Given the description of an element on the screen output the (x, y) to click on. 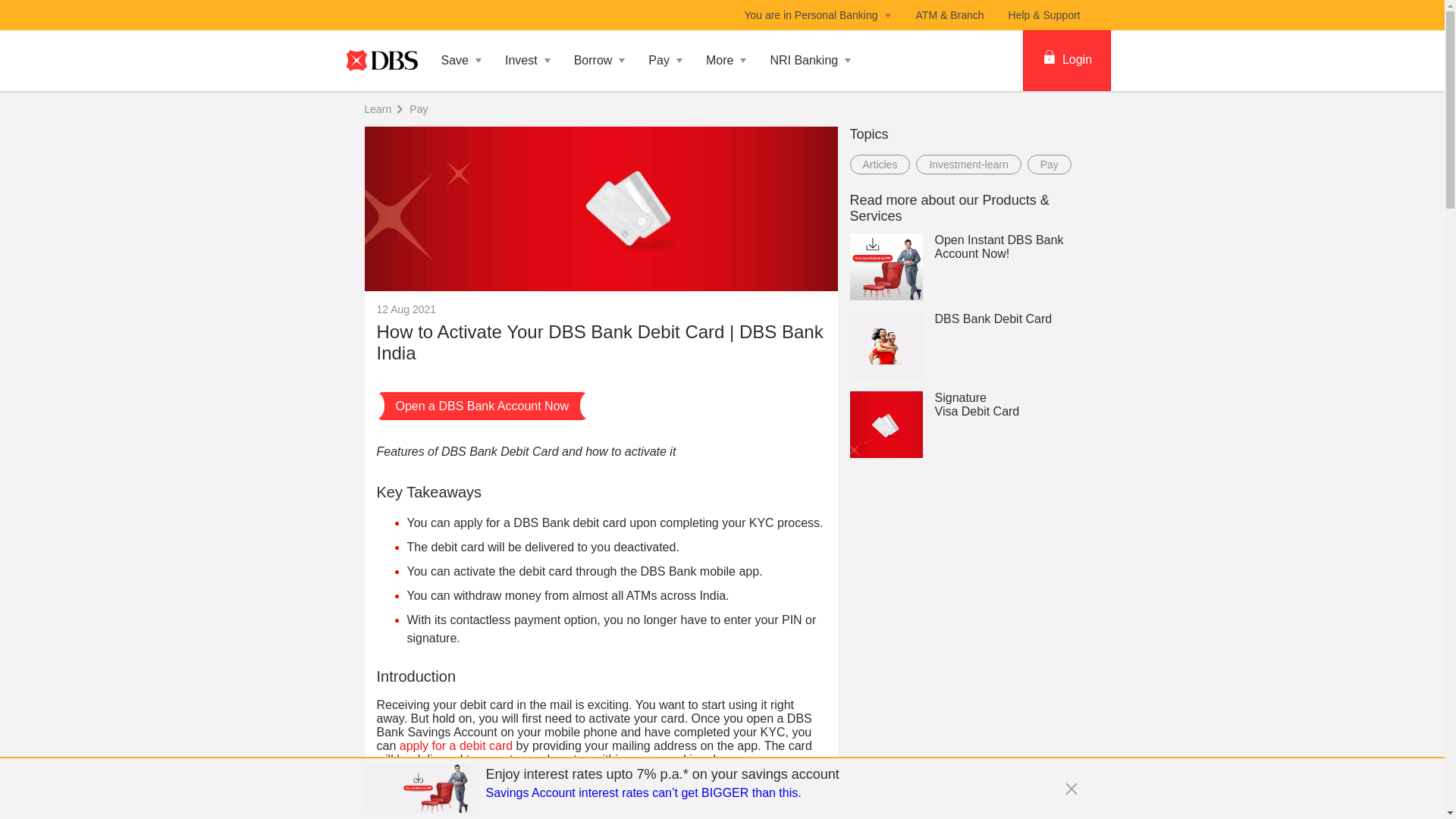
apply for a debit card (455, 745)
Open a DBS Bank Account Now (481, 406)
You are in Personal Banking (817, 15)
